Given the description of an element on the screen output the (x, y) to click on. 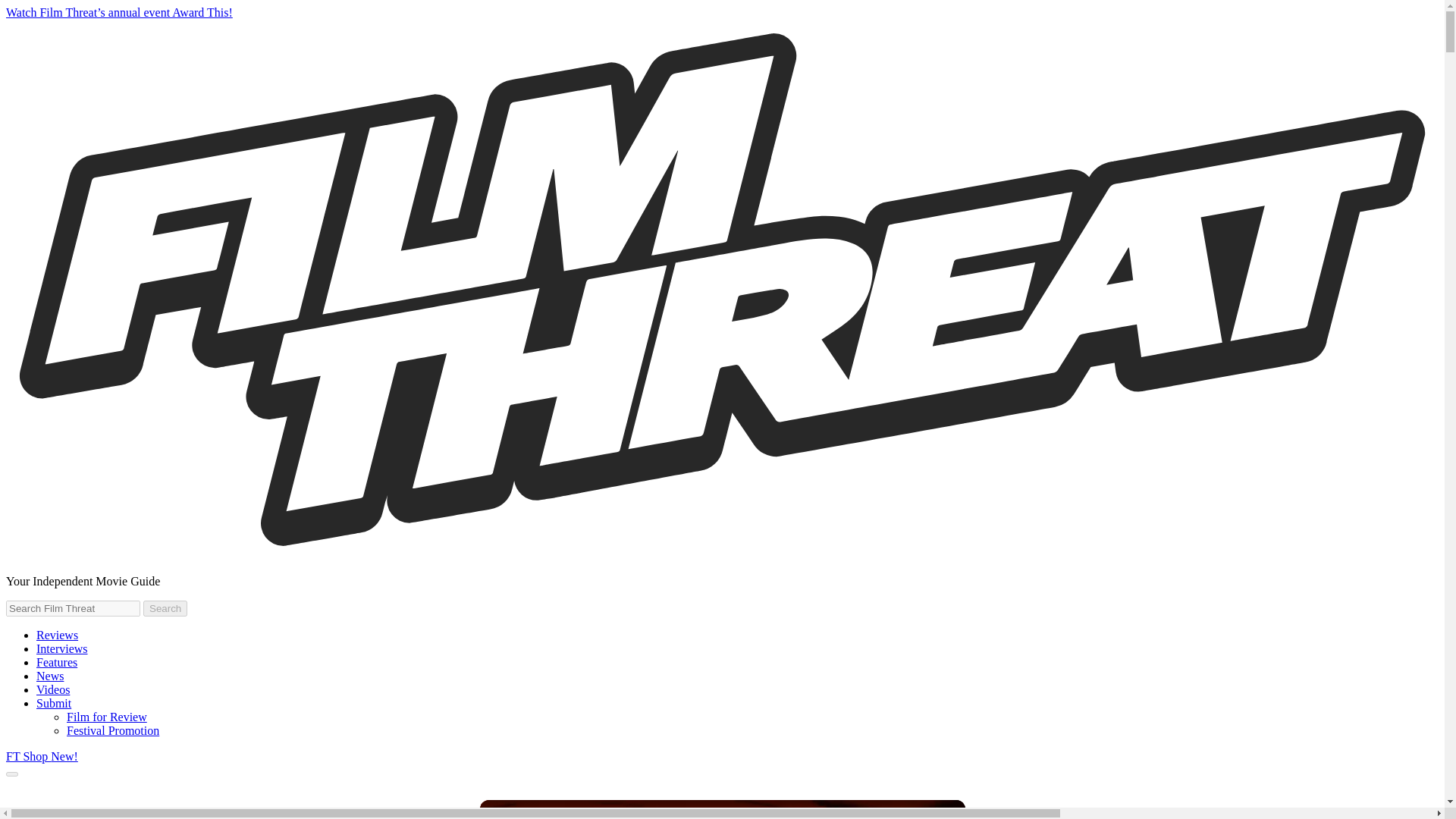
Film for Review (106, 716)
Interviews (61, 648)
Search (164, 608)
FT Shop New! (41, 756)
Share (933, 809)
Search (164, 608)
Reviews (57, 634)
Submit (53, 703)
share (933, 809)
Videos (52, 689)
News (50, 675)
Festival Promotion (112, 730)
Features (56, 662)
